Given the description of an element on the screen output the (x, y) to click on. 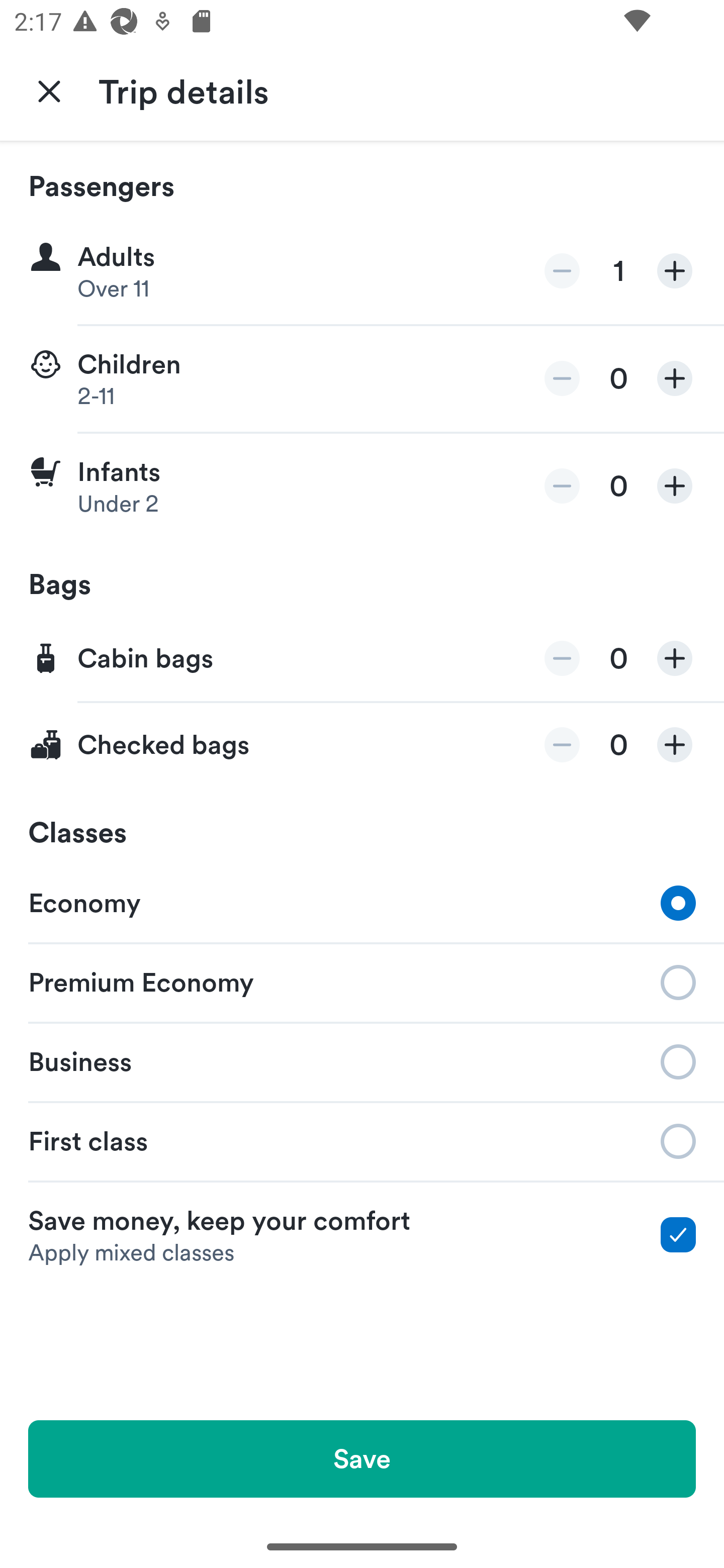
Navigate up (49, 90)
Remove 1 Add Adults Over 11 (362, 271)
Remove (561, 270)
Add (674, 270)
Remove 0 Add Children 2-11 (362, 379)
Remove (561, 377)
Add (674, 377)
Remove 0 Add Infants Under 2 (362, 485)
Remove (561, 485)
Add (674, 485)
Remove 0 Add Cabin bags (362, 659)
Remove (561, 658)
Add (674, 658)
Remove 0 Add Checked bags (362, 744)
Remove (561, 744)
Add (674, 744)
Premium Economy (362, 980)
Business (362, 1060)
First class (362, 1141)
Save (361, 1458)
